Given the description of an element on the screen output the (x, y) to click on. 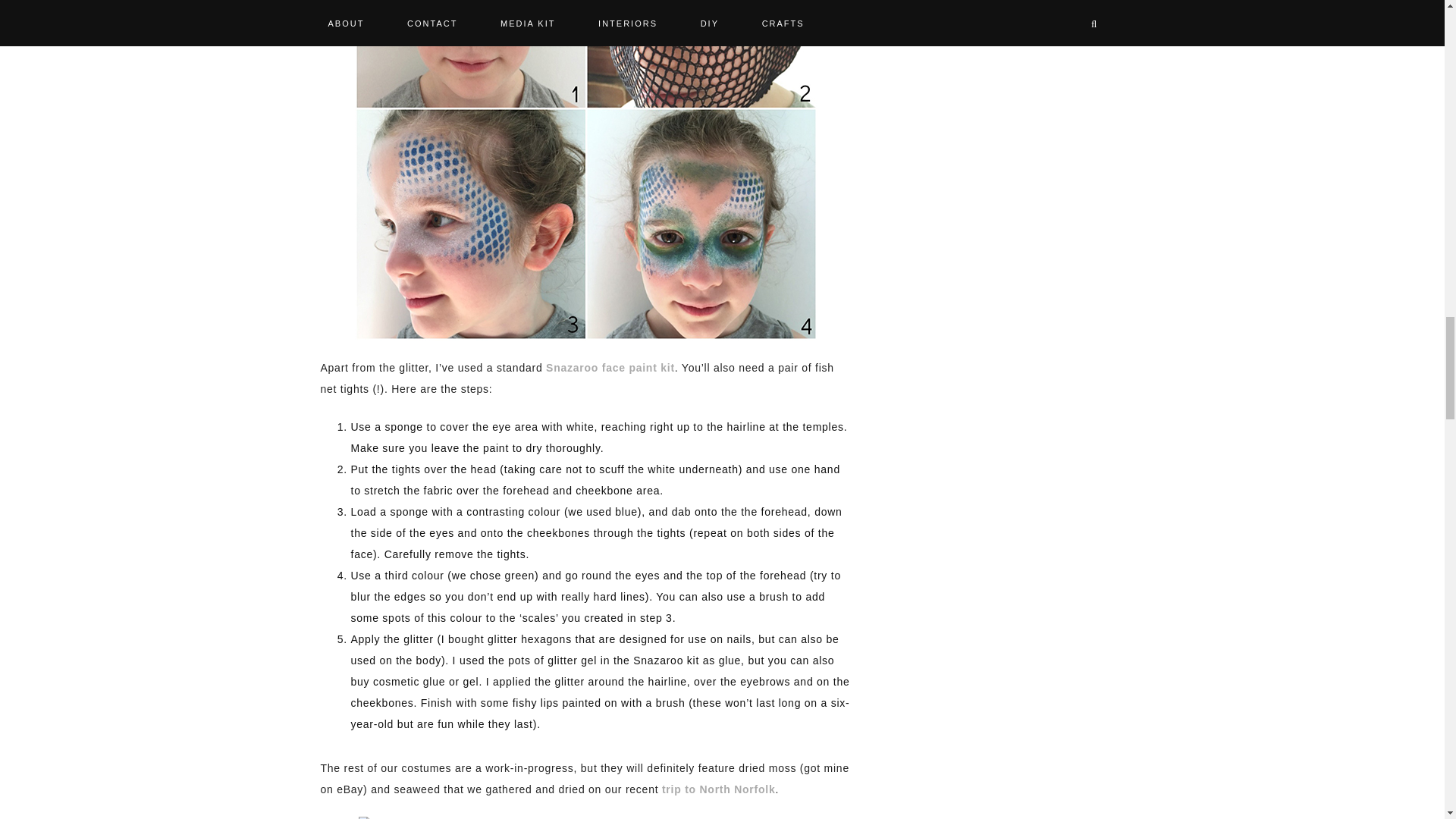
trip to North Norfolk (719, 788)
Snazaroo face paint kit (610, 367)
